Given the description of an element on the screen output the (x, y) to click on. 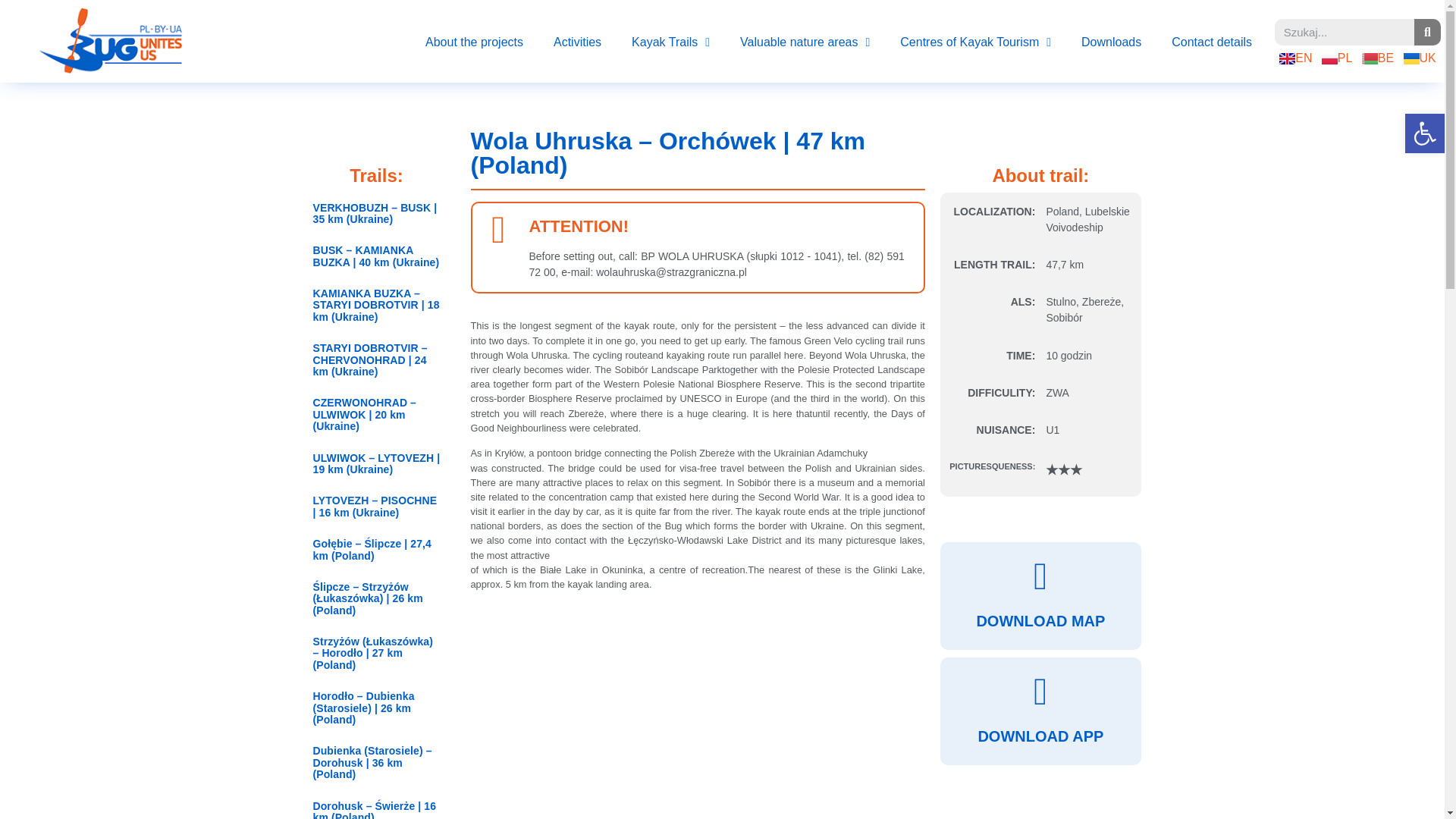
Downloads (1110, 42)
Search (1344, 31)
Valuable nature areas (805, 42)
Activities (576, 42)
Contact details (1211, 42)
About the projects (474, 42)
Centres of Kayak Tourism (975, 42)
Search (1427, 31)
Kayak Trails (670, 42)
